Given the description of an element on the screen output the (x, y) to click on. 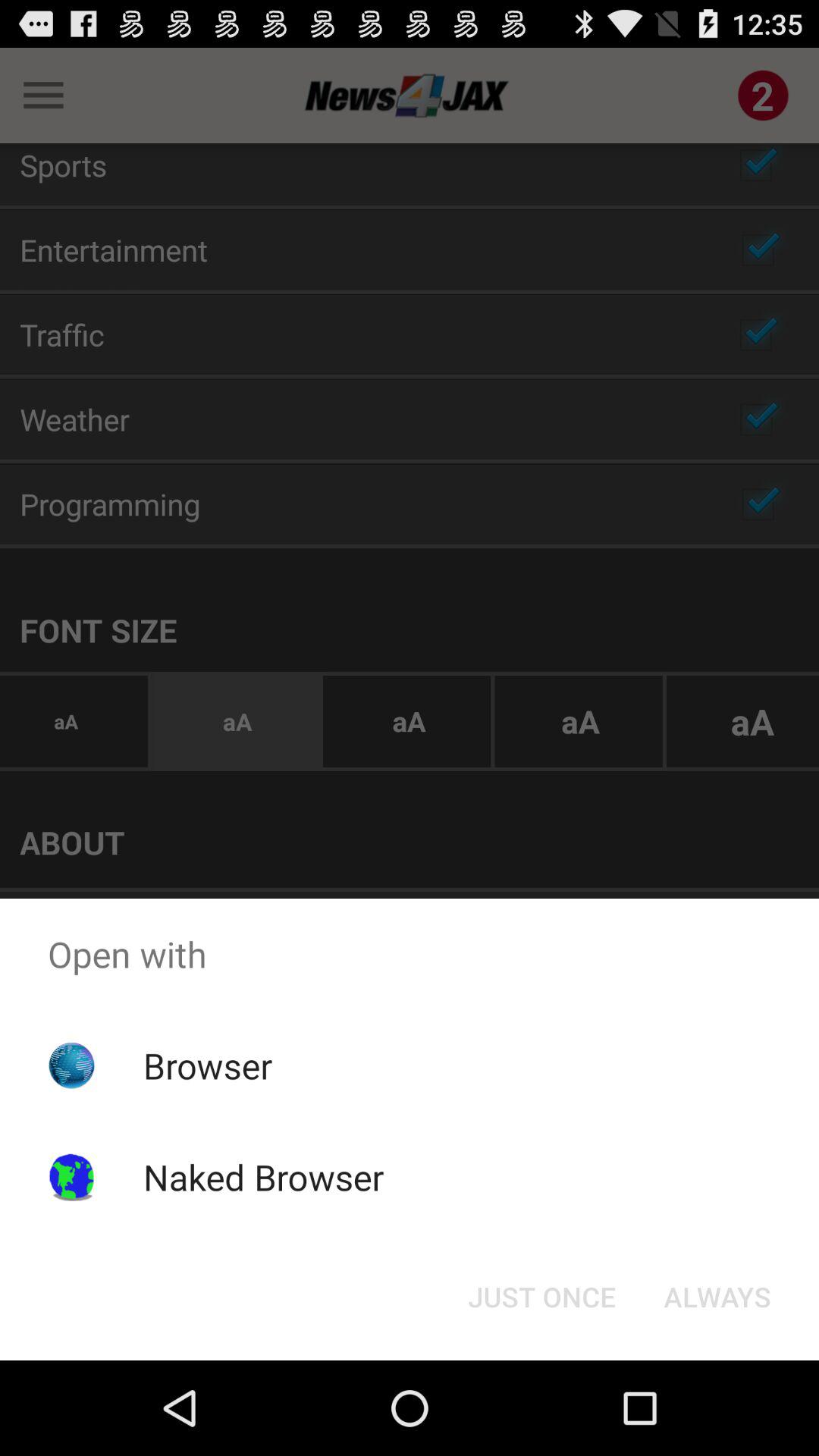
jump until naked browser icon (263, 1176)
